Given the description of an element on the screen output the (x, y) to click on. 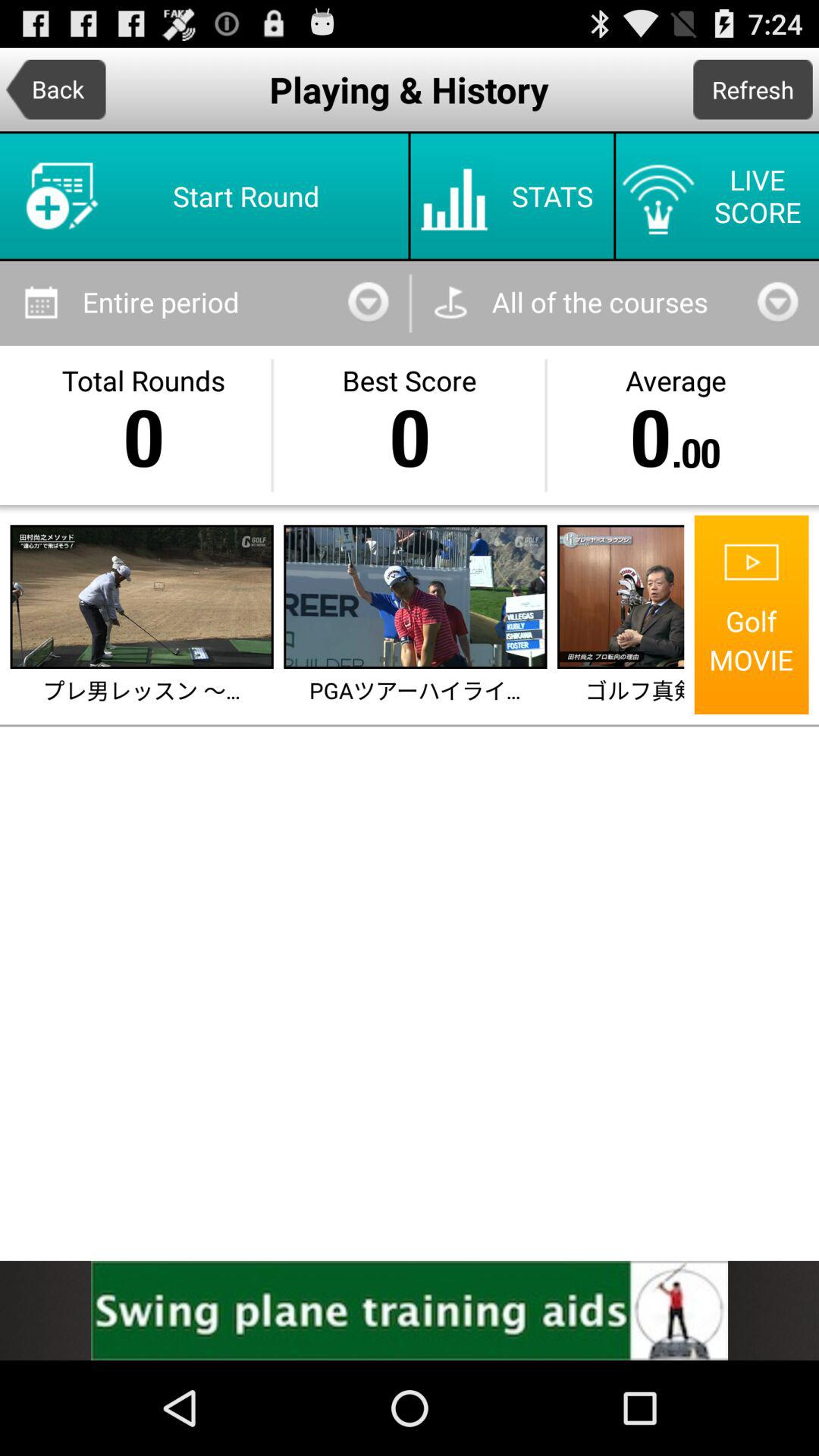
select picture (621, 596)
